Given the description of an element on the screen output the (x, y) to click on. 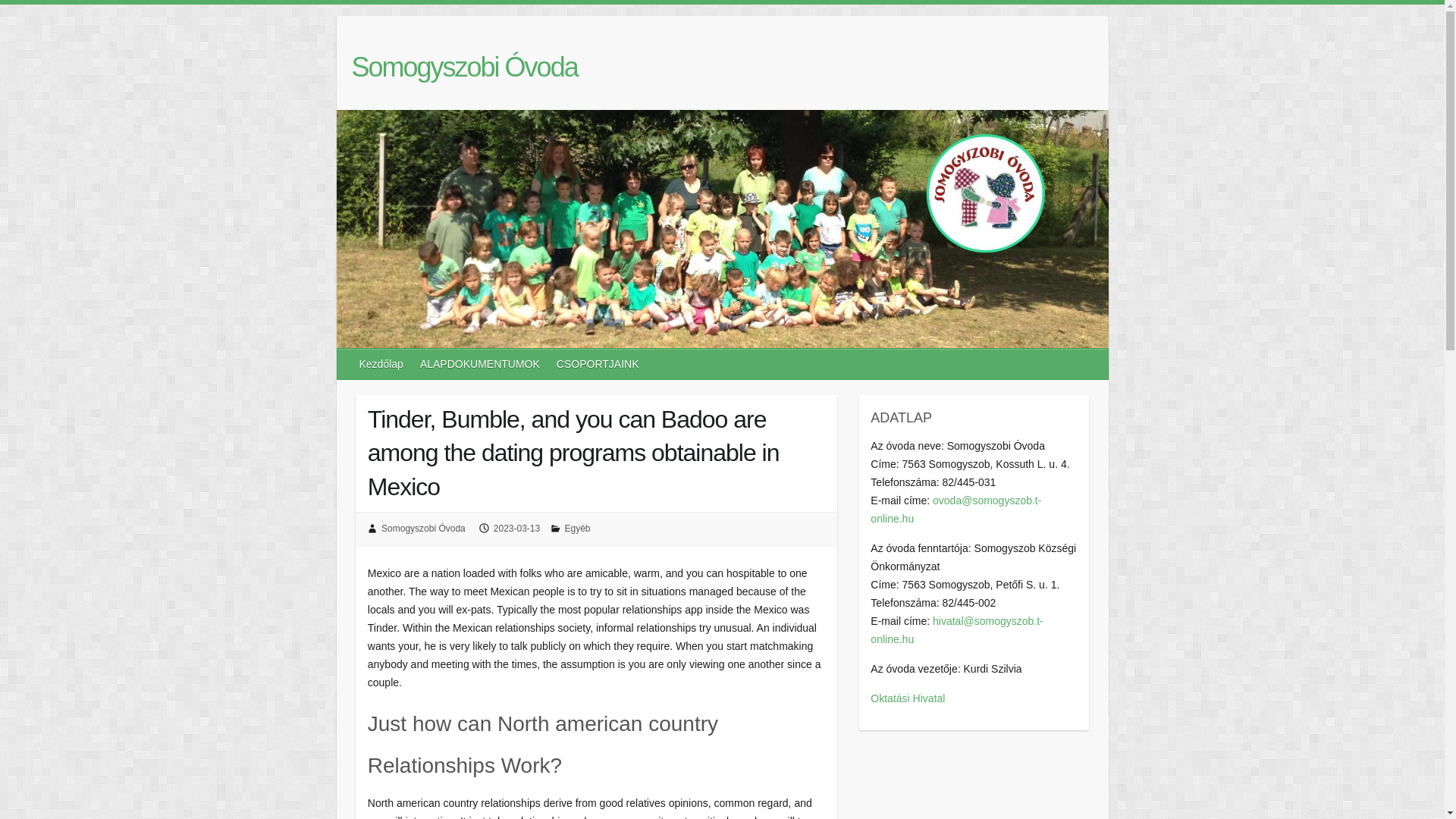
ALAPDOKUMENTUMOK (480, 363)
CSOPORTJAINK (597, 363)
2023-03-13 (516, 528)
